Given the description of an element on the screen output the (x, y) to click on. 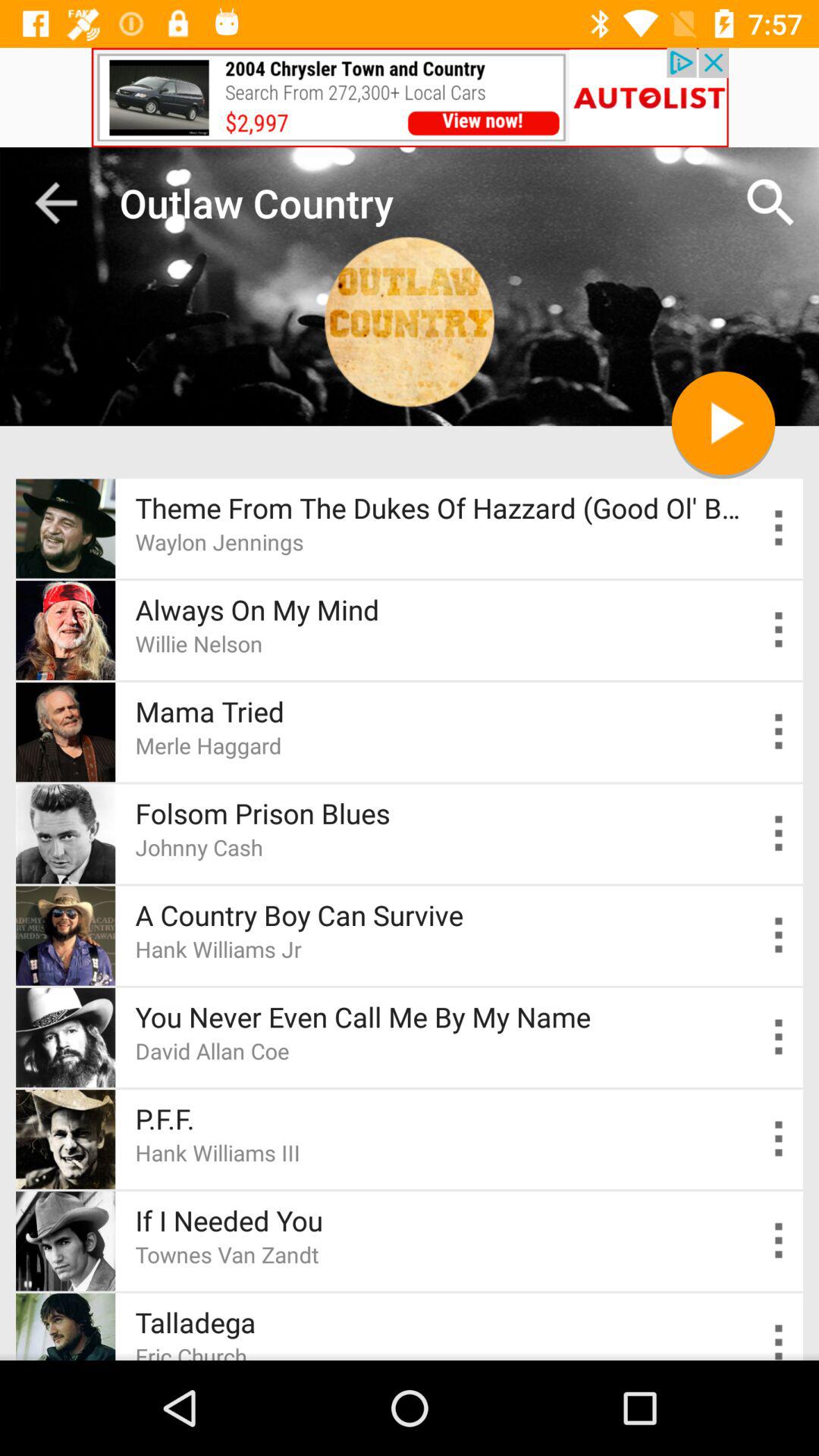
country music (779, 935)
